Given the description of an element on the screen output the (x, y) to click on. 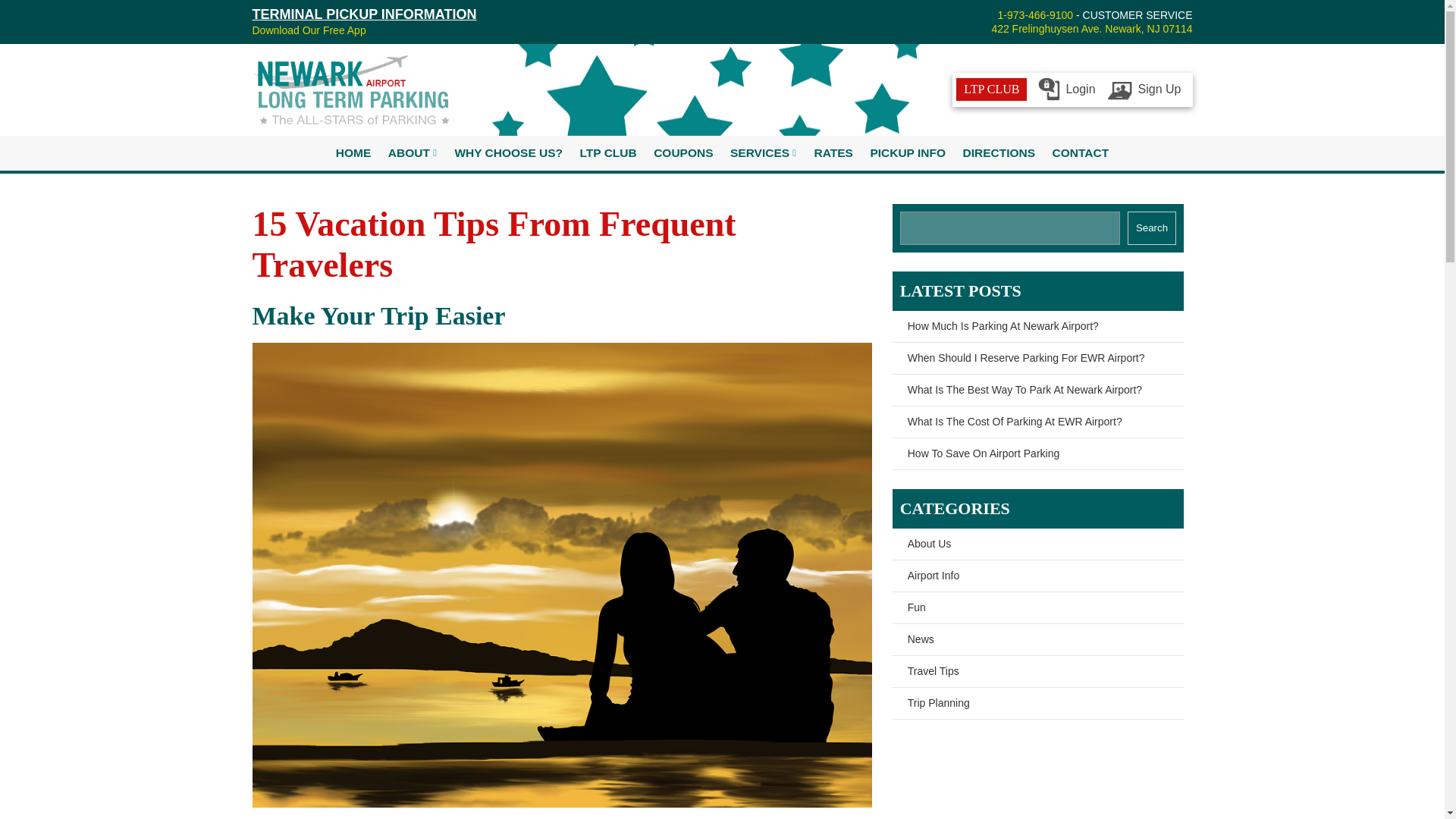
RATES (834, 152)
PICKUP INFO (907, 152)
Search (1151, 227)
Download Our Free App (308, 30)
TERMINAL PICKUP INFORMATION (363, 14)
About Us (1037, 544)
1-973-466-9100 (1035, 15)
COUPONS (682, 152)
SERVICES (759, 152)
422 Frelinghuysen Ave. Newark, NJ 07114 (1091, 28)
DIRECTIONS (998, 152)
How Much Is Parking At Newark Airport? (1037, 327)
What Is The Cost Of Parking At EWR Airport? (1037, 422)
ABOUT (408, 152)
Login (1065, 88)
